Given the description of an element on the screen output the (x, y) to click on. 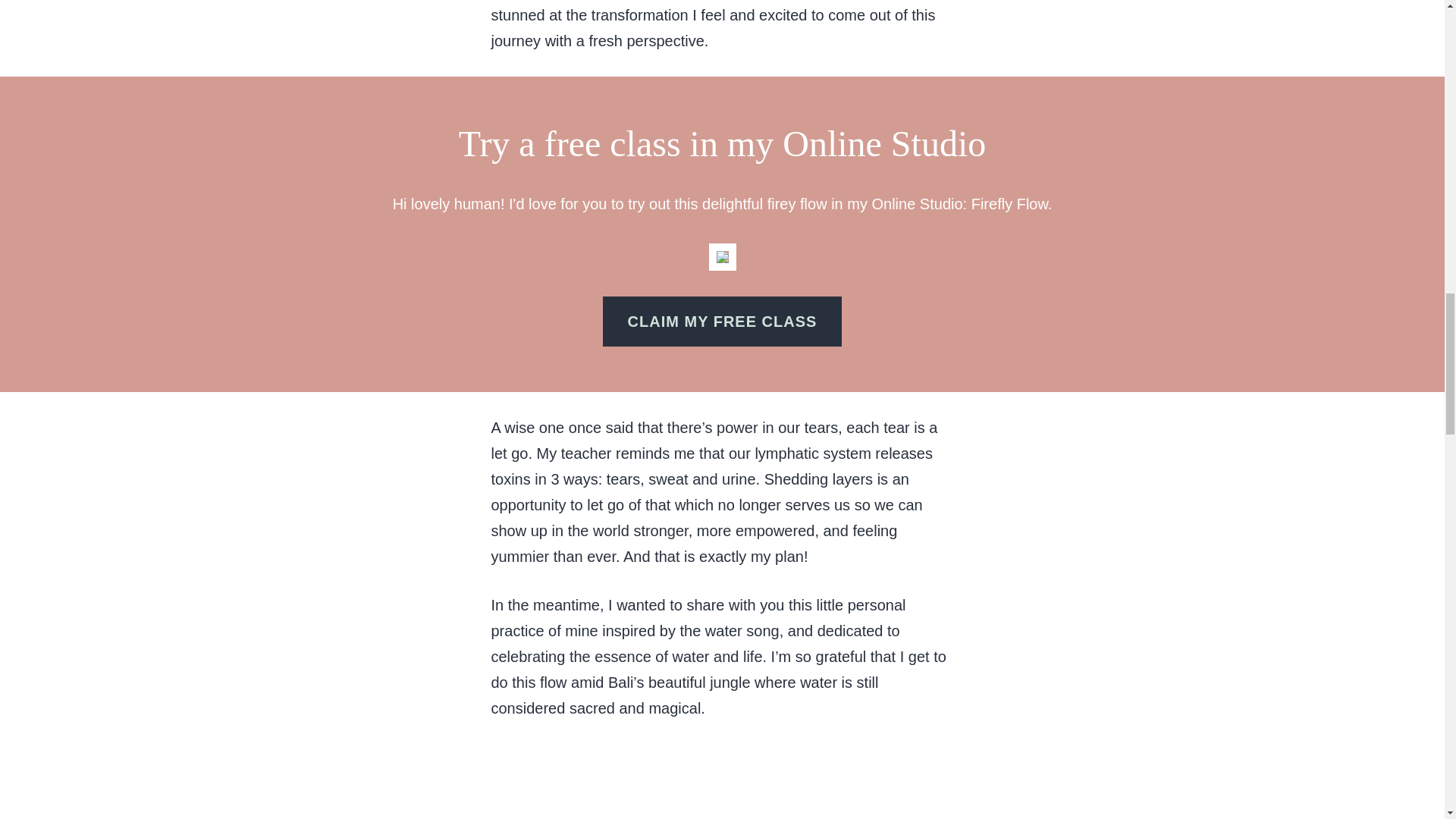
CLAIM MY FREE CLASS (722, 321)
